Given the description of an element on the screen output the (x, y) to click on. 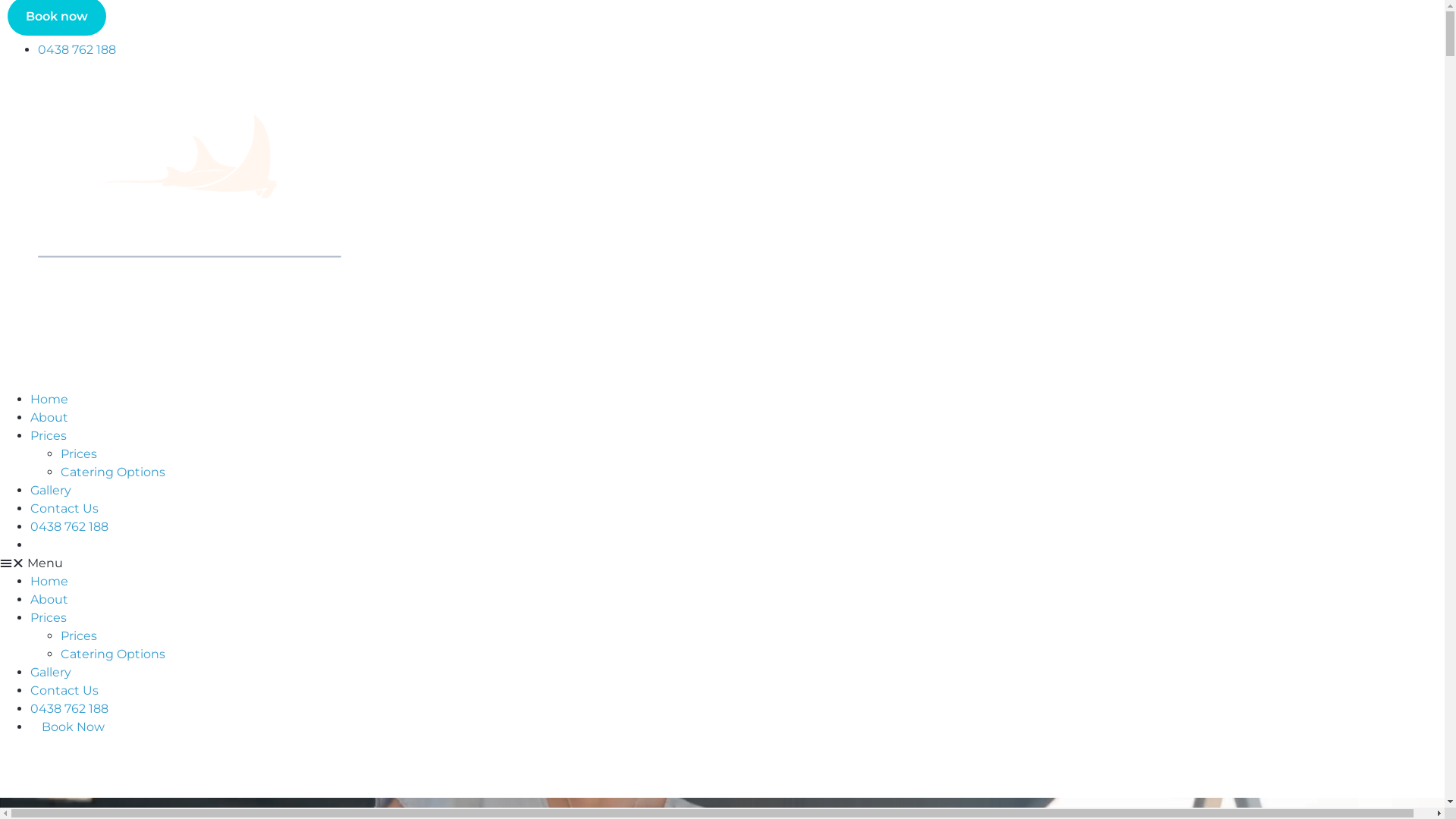
Contact Us Element type: text (64, 690)
Gallery Element type: text (50, 672)
Catering Options Element type: text (112, 471)
Gallery Element type: text (50, 490)
Book Now Element type: text (72, 544)
Catering Options Element type: text (112, 653)
Book Now Element type: text (72, 726)
0438 762 188 Element type: text (69, 526)
Home Element type: text (49, 581)
Prices Element type: text (48, 435)
Contact Us Element type: text (64, 508)
About Element type: text (49, 417)
Home Element type: text (49, 399)
Prices Element type: text (48, 617)
0438 762 188 Element type: text (69, 708)
0438 762 188 Element type: text (76, 49)
Prices Element type: text (78, 453)
About Element type: text (49, 599)
Skip to content Element type: text (0, 0)
Prices Element type: text (78, 635)
